Given the description of an element on the screen output the (x, y) to click on. 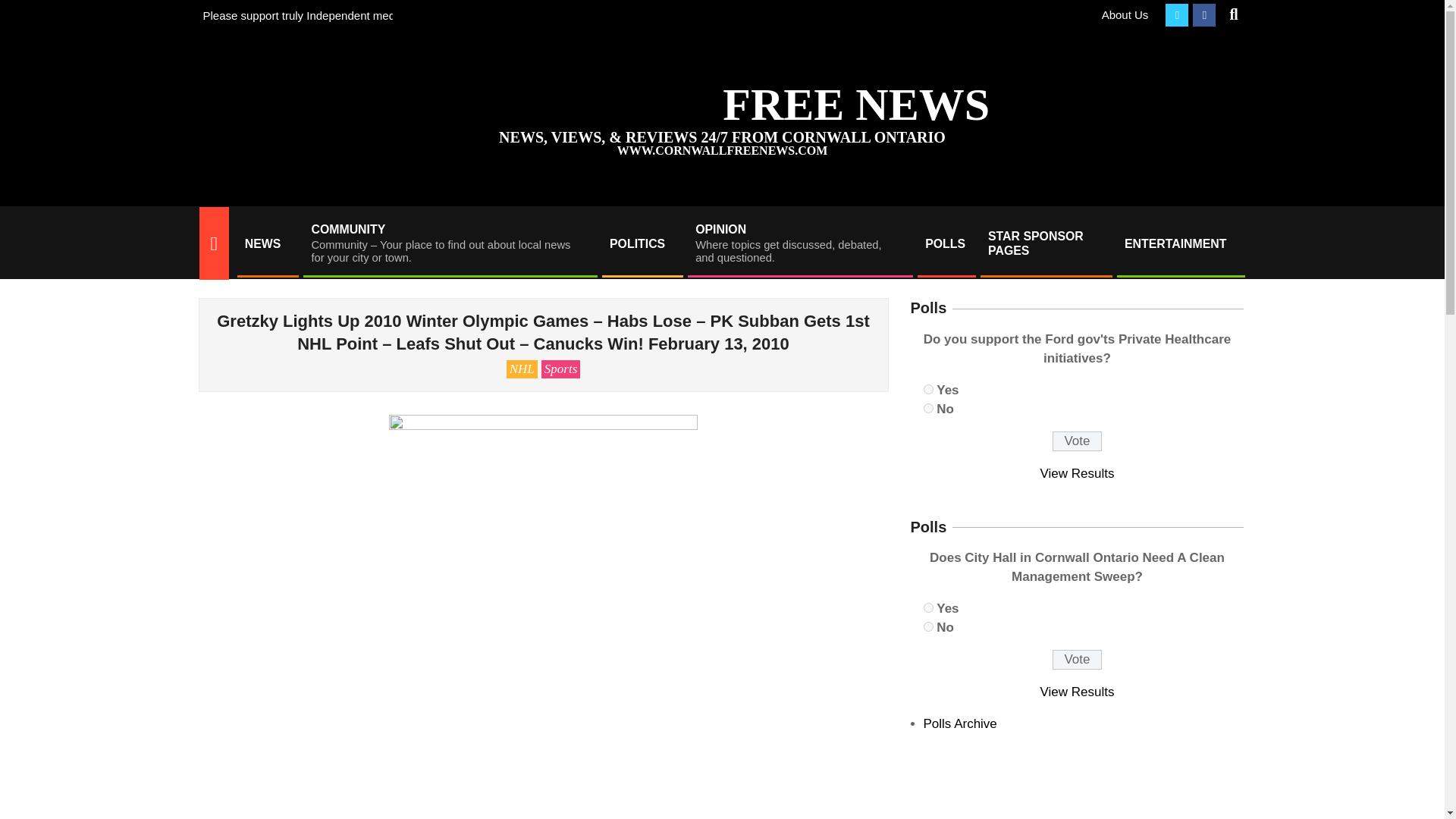
STAR SPONSOR PAGES (1044, 243)
View Results Of This Poll (1078, 473)
1777 (928, 408)
   Vote    (1076, 441)
About Us (1125, 14)
1770 (928, 607)
1771 (928, 626)
Search (24, 9)
   Vote    (1076, 659)
1776 (928, 388)
